Given the description of an element on the screen output the (x, y) to click on. 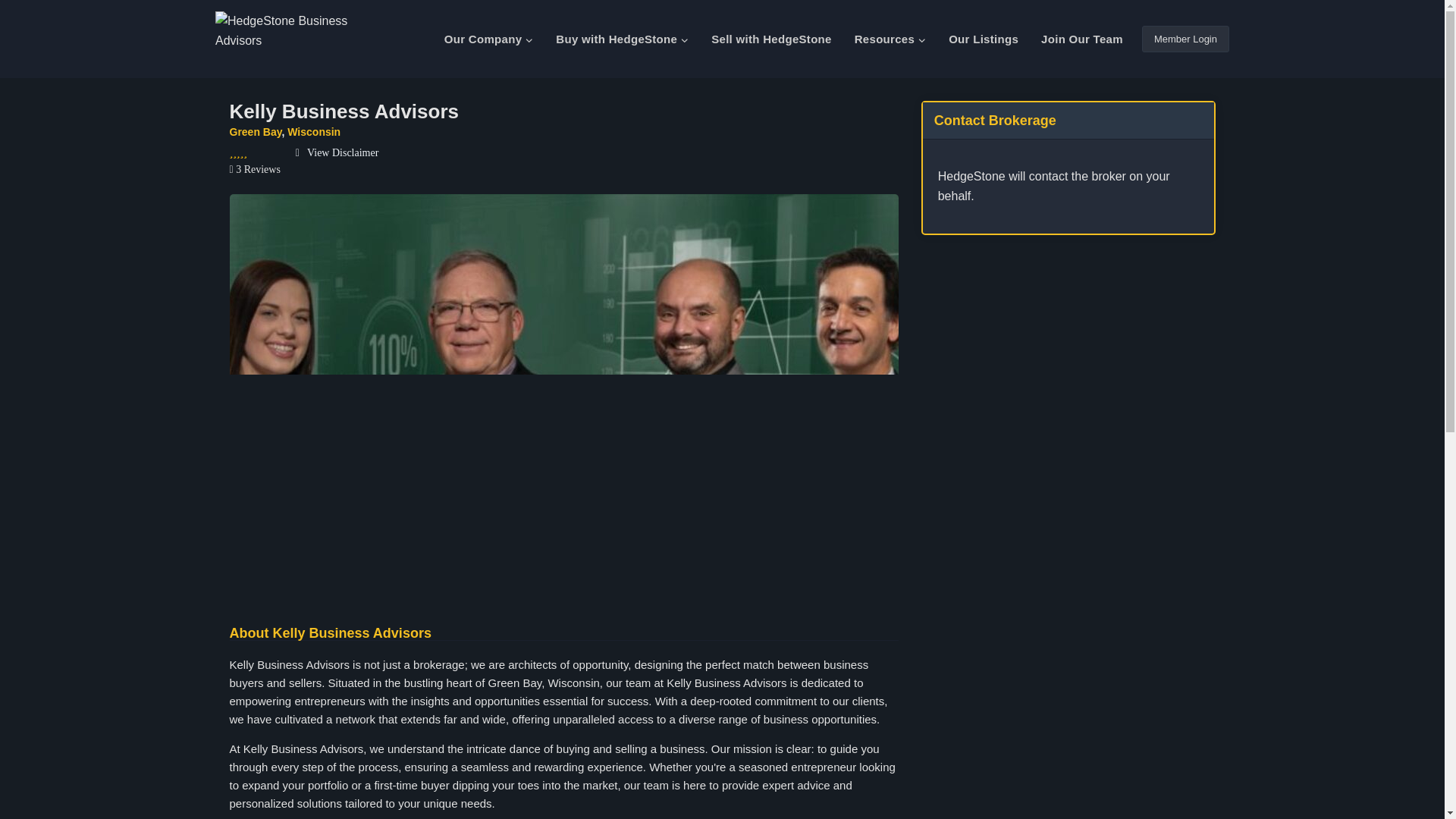
Wisconsin (313, 132)
Buy with HedgeStone (622, 38)
Join Our Team (1081, 38)
Resources (890, 38)
Our Company (488, 38)
View Disclaimer (336, 152)
Sell with HedgeStone (771, 38)
Our Listings (983, 38)
Member Login (1184, 38)
Green Bay (254, 132)
